Given the description of an element on the screen output the (x, y) to click on. 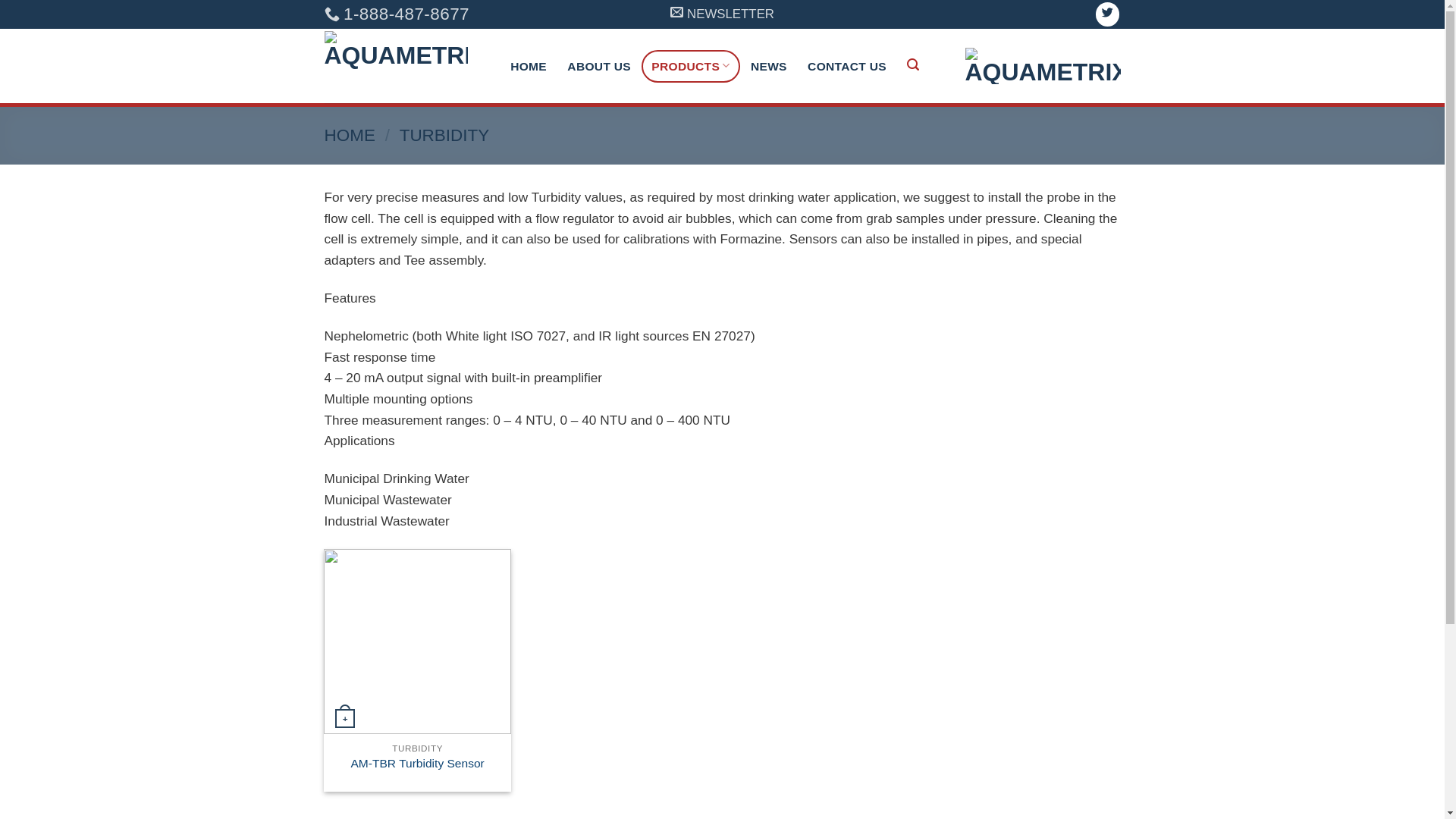
Follow on Twitter Element type: hover (1107, 14)
Aquametrix - Just another WordPress site Element type: hover (400, 65)
Aquametrix - Just another WordPress site Element type: hover (1042, 65)
PRODUCTS Element type: text (690, 66)
NEWSLETTER Element type: text (722, 14)
HOME Element type: text (349, 134)
CONTACT US Element type: text (846, 66)
AM-TBR Turbidity Sensor Element type: text (416, 763)
1-888-487-8677 Element type: text (397, 14)
ABOUT US Element type: text (599, 66)
HOME Element type: text (528, 66)
NEWS Element type: text (768, 66)
